Given the description of an element on the screen output the (x, y) to click on. 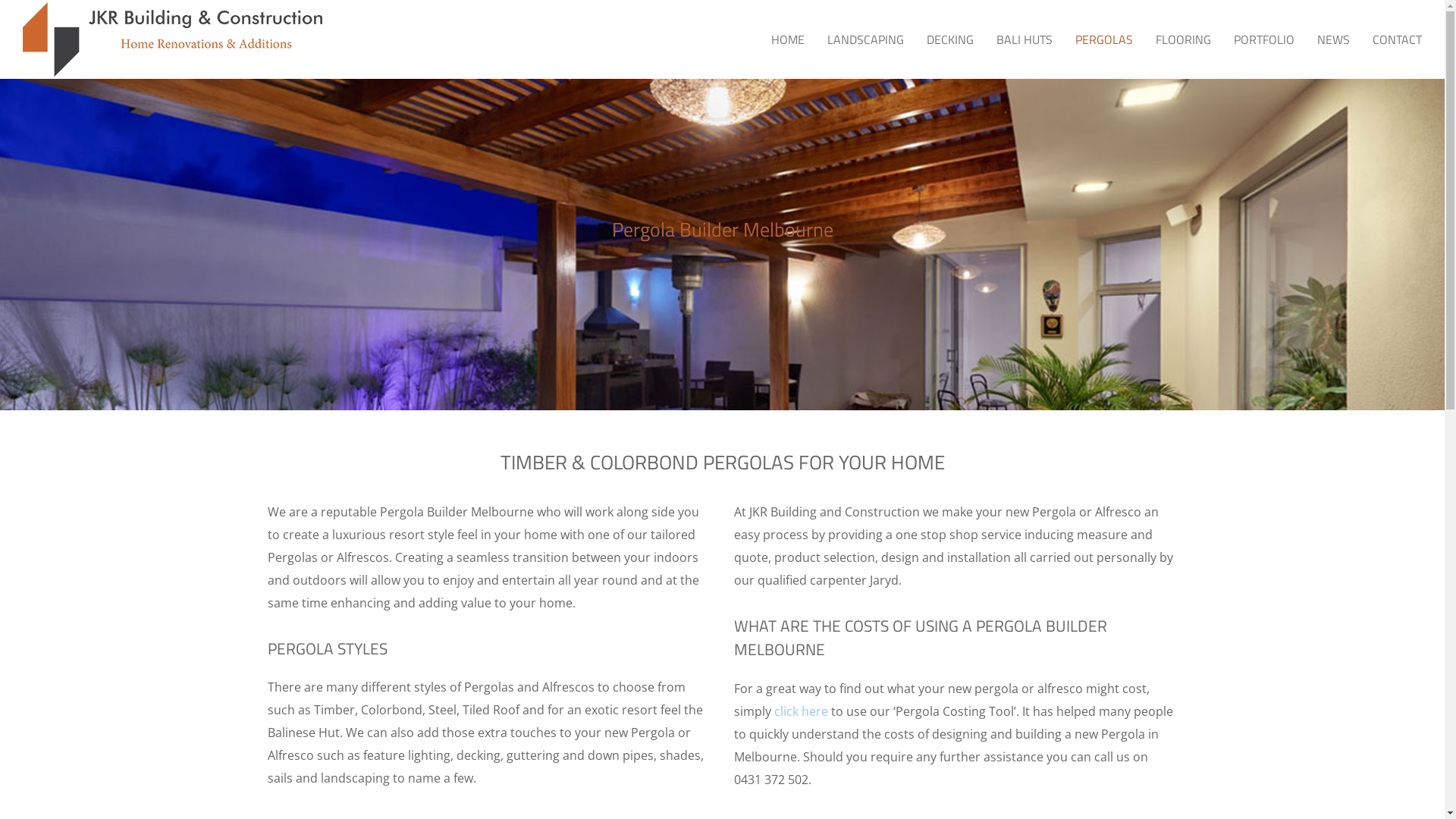
BALI HUTS Element type: text (1024, 39)
PORTFOLIO Element type: text (1263, 39)
NEWS Element type: text (1333, 39)
FLOORING Element type: text (1183, 39)
DECKING Element type: text (950, 39)
PERGOLAS Element type: text (1103, 39)
CONTACT Element type: text (1397, 39)
HOME Element type: text (787, 39)
LANDSCAPING Element type: text (865, 39)
click here Element type: text (800, 710)
